Given the description of an element on the screen output the (x, y) to click on. 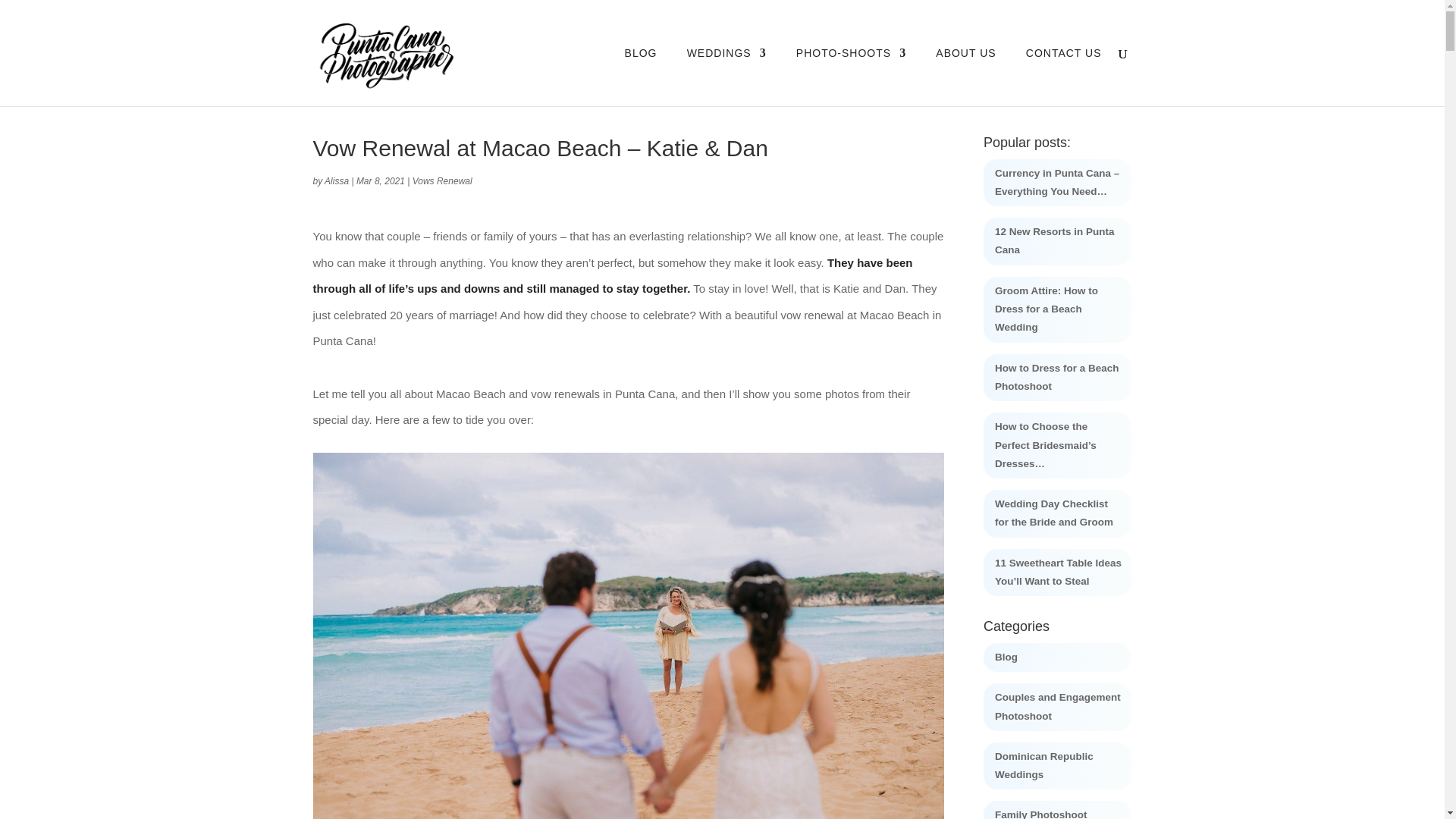
Groom Attire: How to Dress for a Beach Wedding (1045, 309)
12 New Resorts in Punta Cana (1054, 240)
How to Dress for a Beach Photoshoot (1056, 377)
ABOUT US (965, 76)
Posts by Alissa (336, 181)
Vows Renewal (441, 181)
PHOTO-SHOOTS (850, 76)
Alissa (336, 181)
CONTACT US (1064, 76)
WEDDINGS (727, 76)
